Given the description of an element on the screen output the (x, y) to click on. 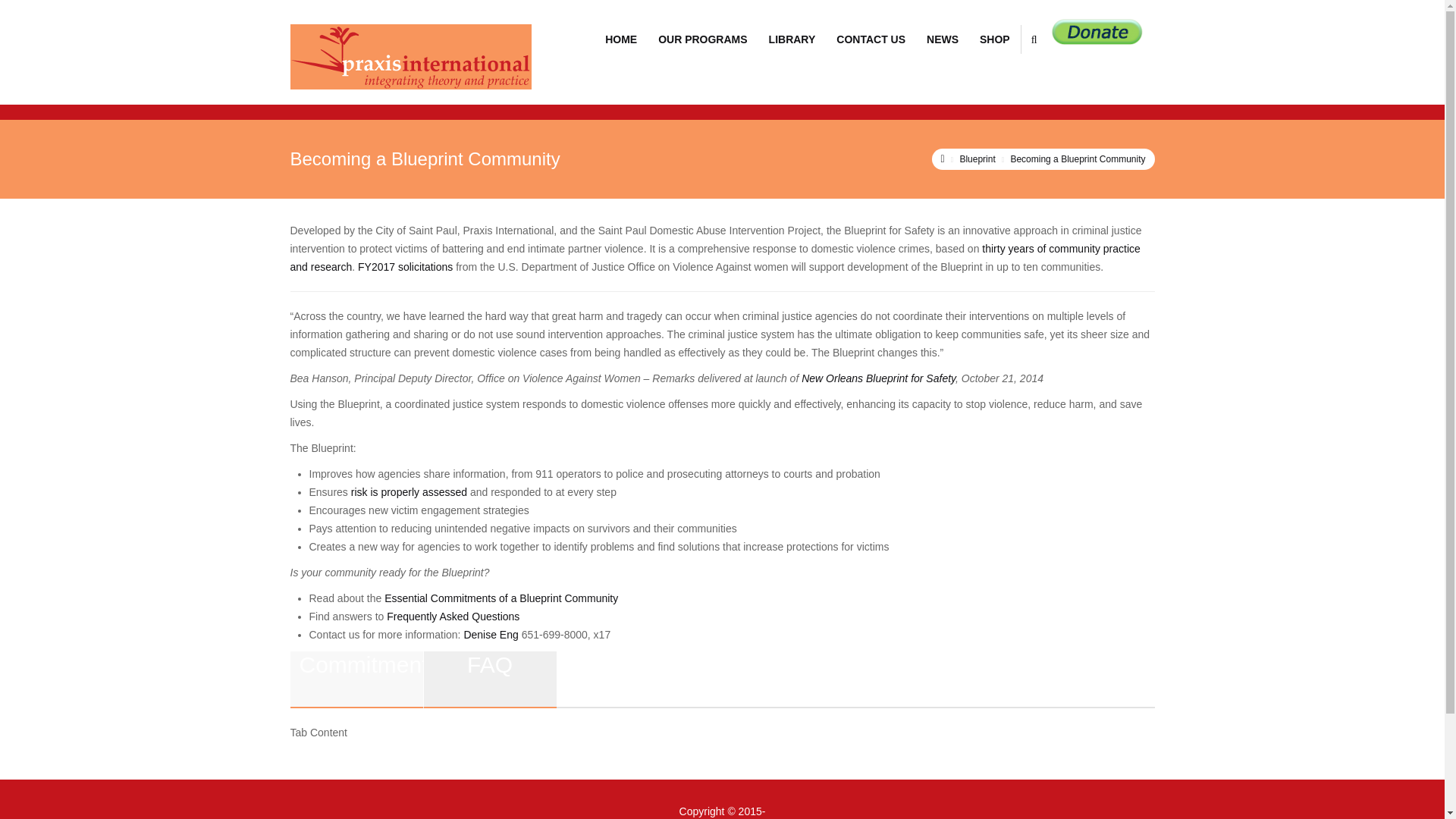
CONTACT US (870, 39)
NEWS (942, 39)
OUR PROGRAMS (702, 39)
Praxis International (410, 55)
SHOP (994, 39)
Blueprint (976, 158)
LIBRARY (791, 39)
HOME (621, 39)
